Given the description of an element on the screen output the (x, y) to click on. 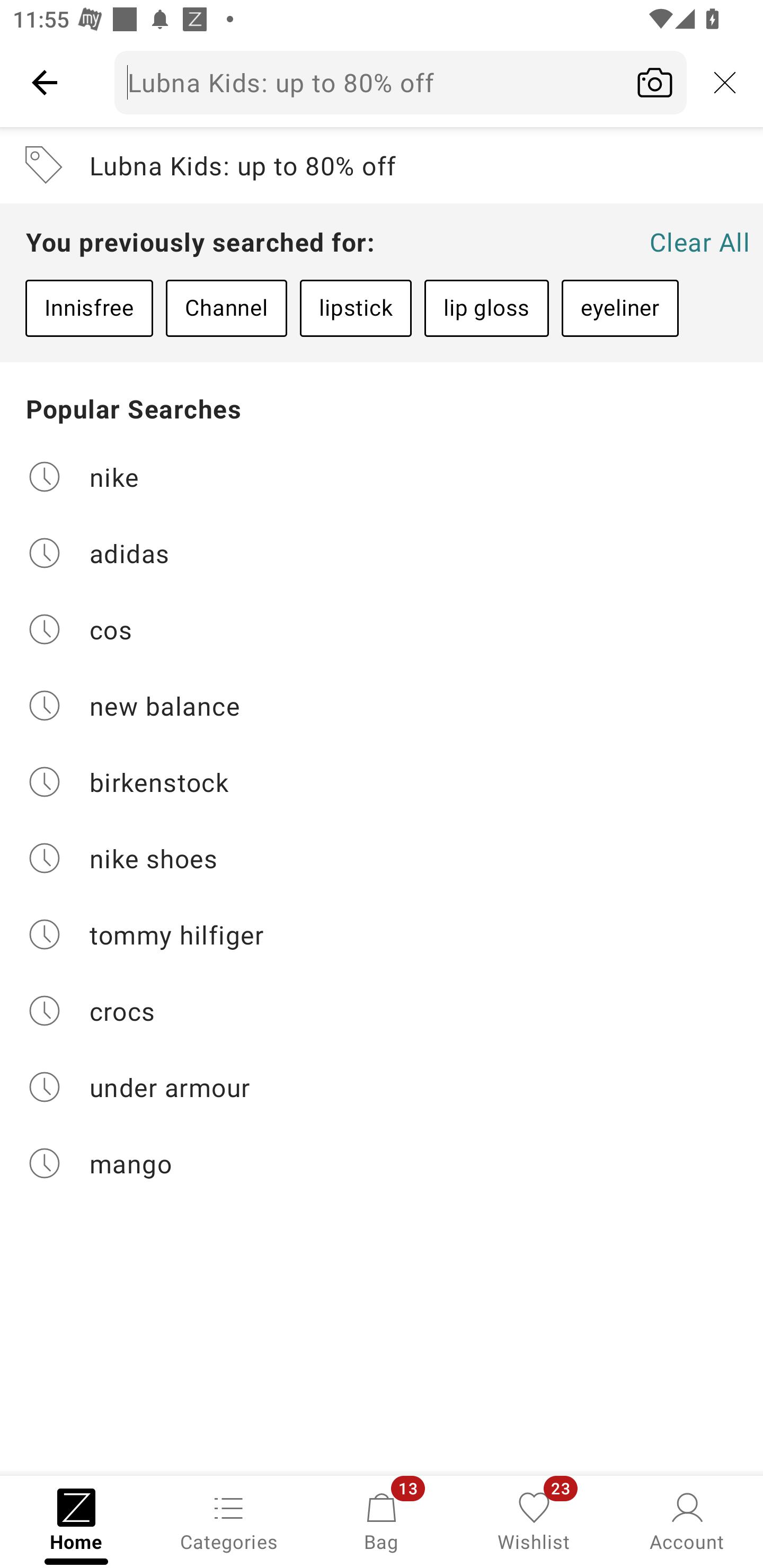
Navigate up (44, 82)
Lubna Kids: up to 80% off (400, 82)
Lubna Kids: up to 80% off (381, 165)
Clear All (699, 241)
Innisfree (89, 308)
Channel (225, 308)
lipstick (355, 308)
lip gloss (486, 308)
eyeliner (620, 308)
nike (381, 476)
adidas (381, 552)
cos (381, 629)
new balance (381, 705)
birkenstock (381, 781)
nike shoes (381, 858)
tommy hilfiger (381, 934)
crocs (381, 1010)
under armour (381, 1086)
mango (381, 1163)
Categories (228, 1519)
Bag, 13 new notifications Bag (381, 1519)
Wishlist, 23 new notifications Wishlist (533, 1519)
Account (686, 1519)
